Given the description of an element on the screen output the (x, y) to click on. 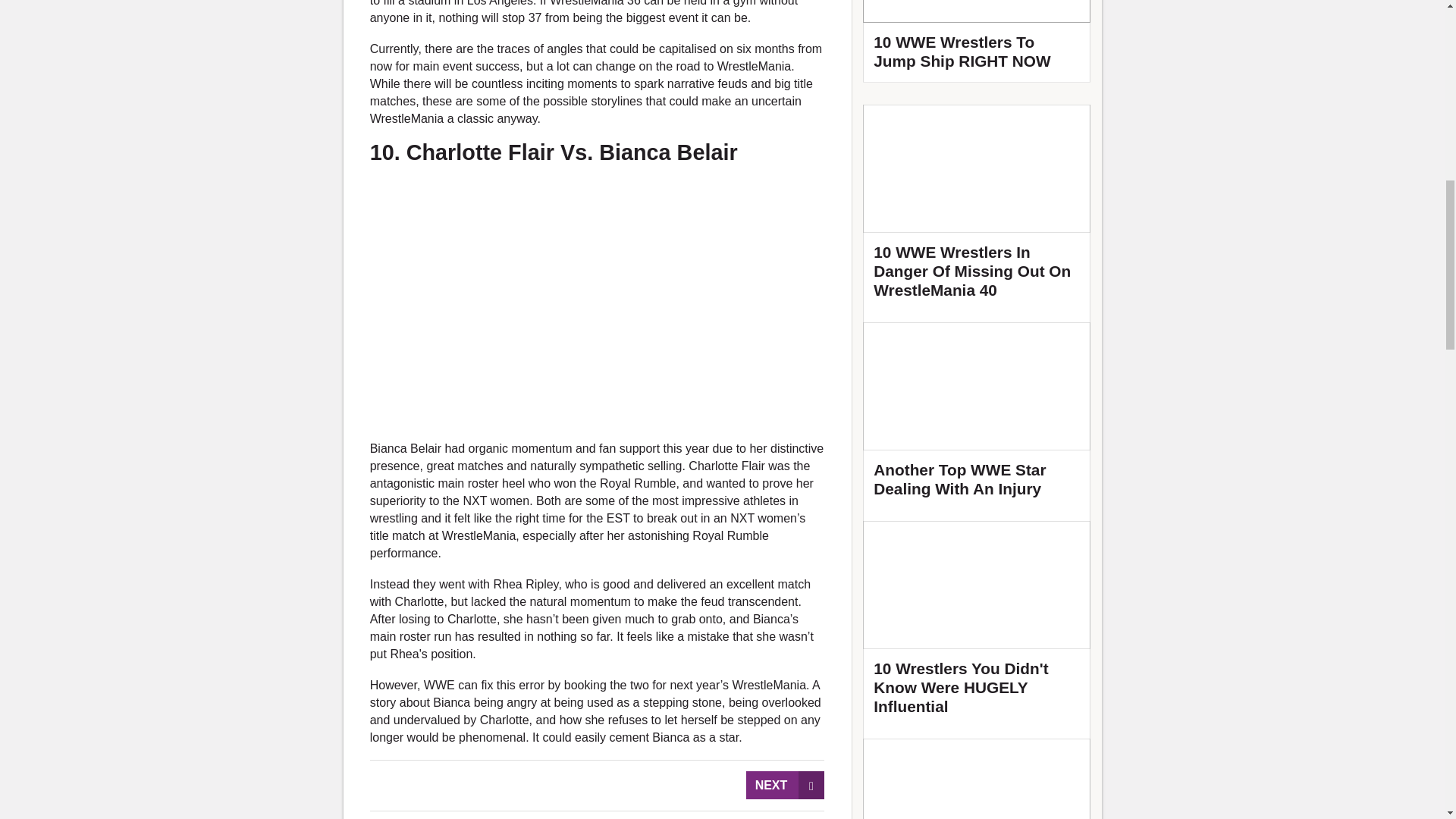
Another Top WWE Star Dealing With An Injury (976, 416)
Featured Video (976, 41)
10 Wrestlers You Didn't Know Were HUGELY Influential (976, 624)
10 WWE Wrestlers In Danger Of Missing Out On WrestleMania 40 (976, 208)
